Given the description of an element on the screen output the (x, y) to click on. 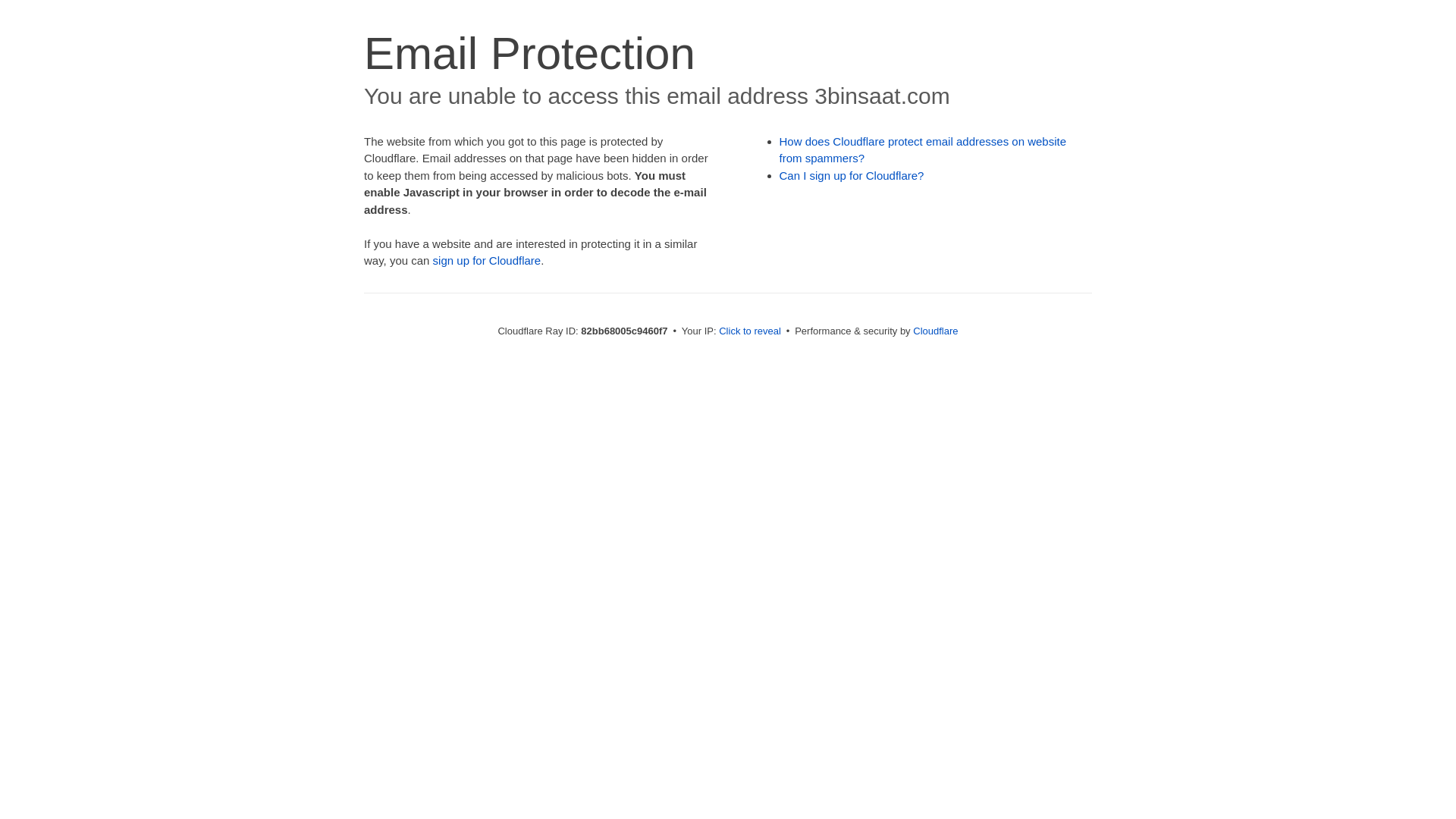
sign up for Cloudflare Element type: text (487, 260)
Cloudflare Element type: text (935, 330)
Can I sign up for Cloudflare? Element type: text (851, 175)
Click to reveal Element type: text (749, 330)
